Given the description of an element on the screen output the (x, y) to click on. 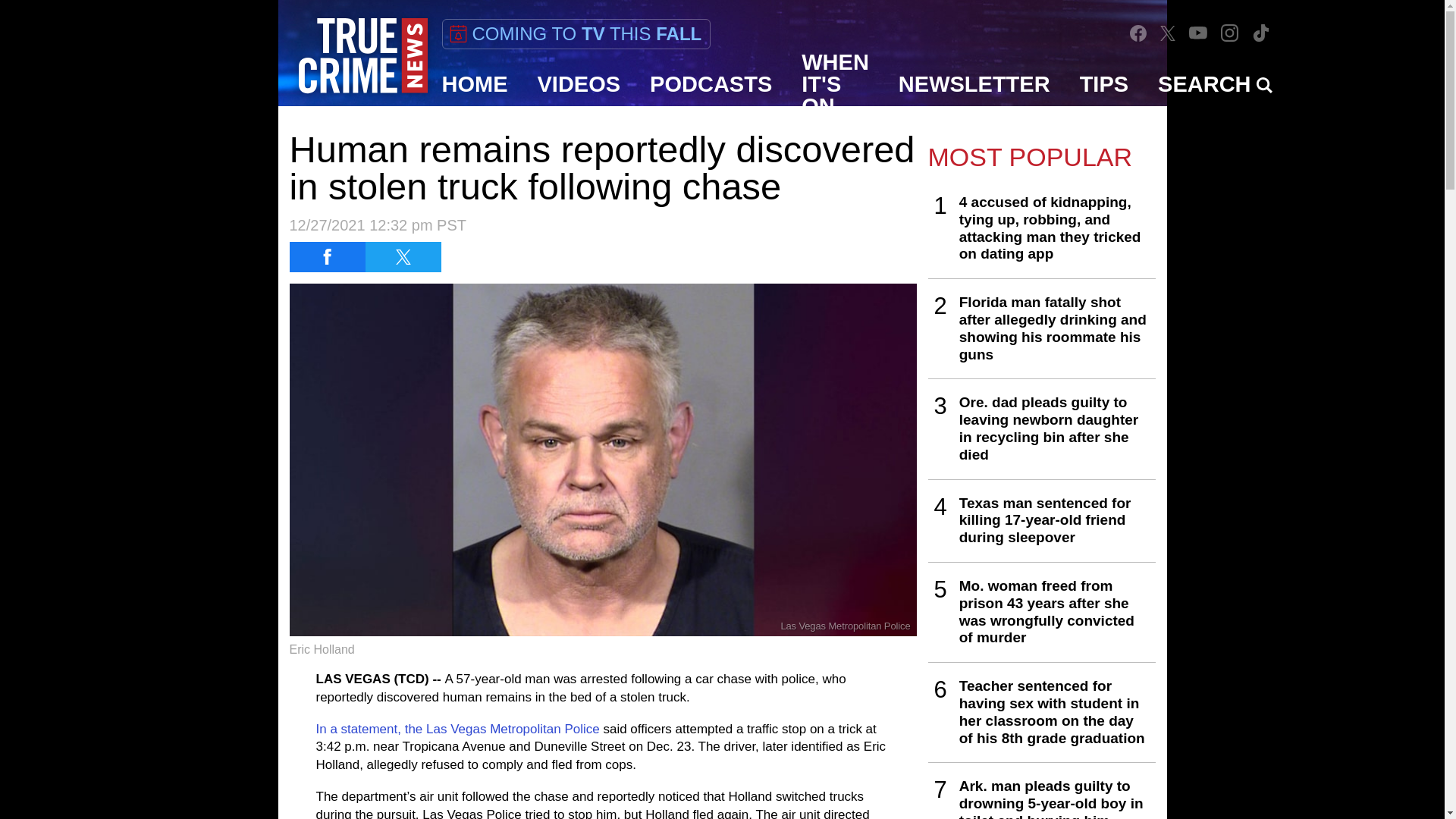
Facebook (1137, 33)
Twitter (1167, 32)
NEWSLETTER (974, 84)
SEARCH (1214, 84)
TikTok (1260, 32)
COMING TO TV THIS FALL (575, 33)
HOME (475, 84)
YouTube (1198, 32)
YouTube (1198, 32)
Twitter (1167, 32)
WHEN IT'S ON (835, 84)
Instagram (1229, 32)
True Crime News (363, 56)
PODCASTS (710, 84)
VIDEOS (579, 84)
